Given the description of an element on the screen output the (x, y) to click on. 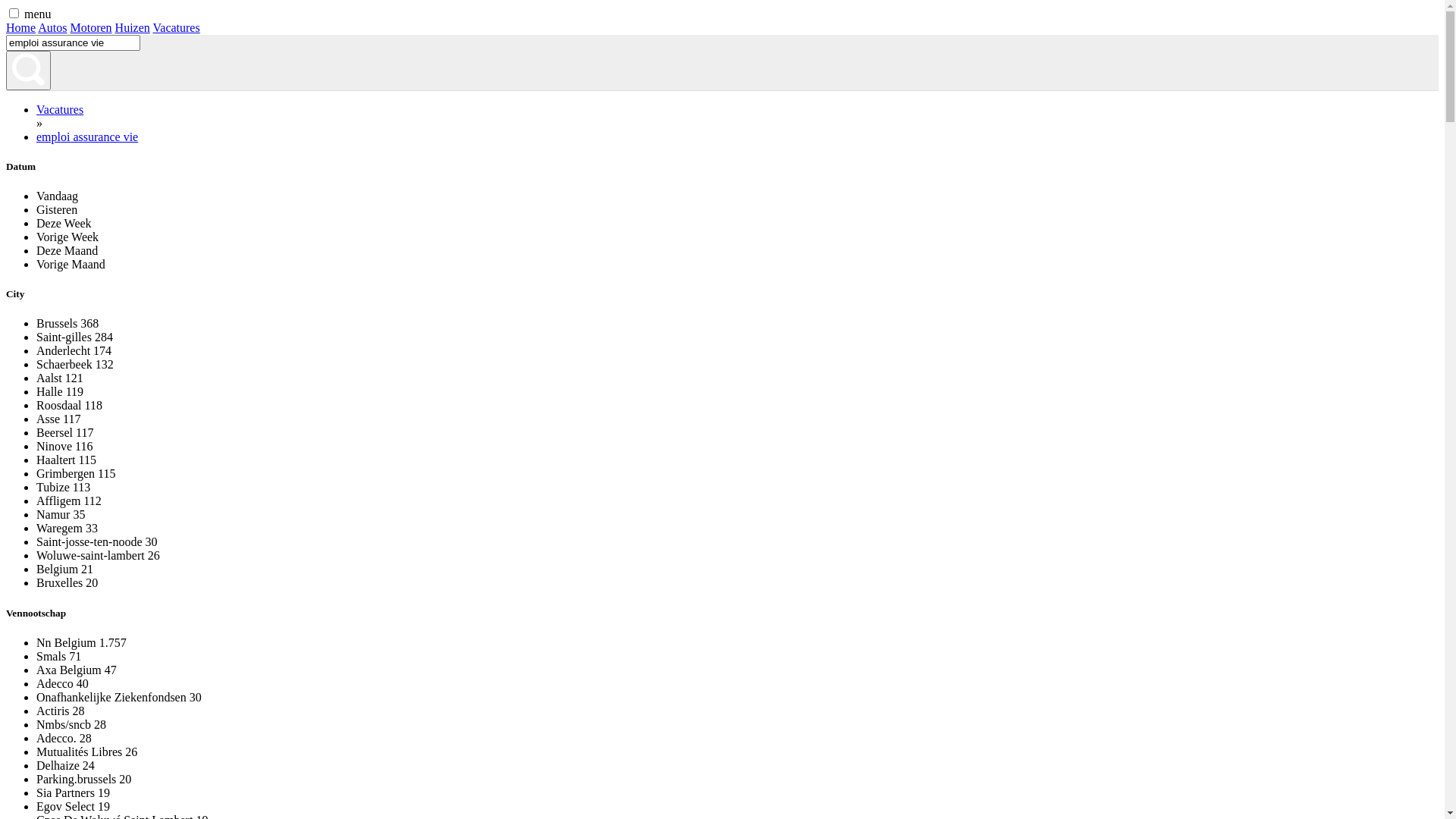
Huizen Element type: text (132, 27)
Vacatures Element type: text (59, 109)
Vacatures Element type: text (176, 27)
Autos Element type: text (51, 27)
Home Element type: text (20, 27)
Motoren Element type: text (90, 27)
emploi assurance vie Element type: text (87, 136)
